Given the description of an element on the screen output the (x, y) to click on. 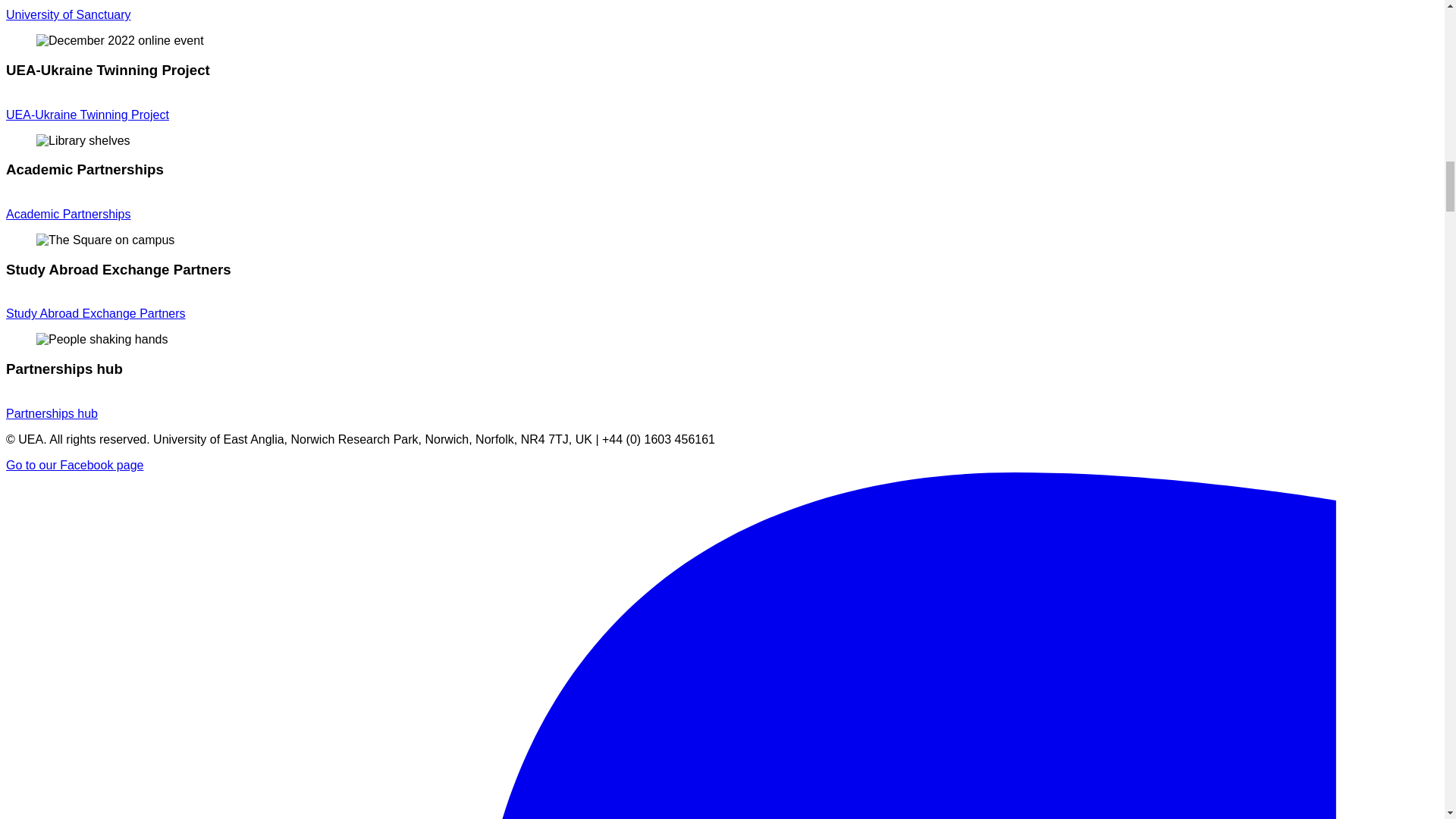
UEA-Ukraine Twinning Project (86, 114)
Academic Partnerships (68, 214)
University of Sanctuary (68, 14)
Study Abroad Exchange Partners (95, 313)
Read more about: Study Abroad Exchange Partners (95, 313)
Read more about: Partnerships hub (51, 413)
Read more about: UEA-Ukraine Twinning Project (86, 114)
Partnerships hub (51, 413)
Read more about: Academic Partnerships (68, 214)
Read more about: University of Sanctuary (68, 14)
